Given the description of an element on the screen output the (x, y) to click on. 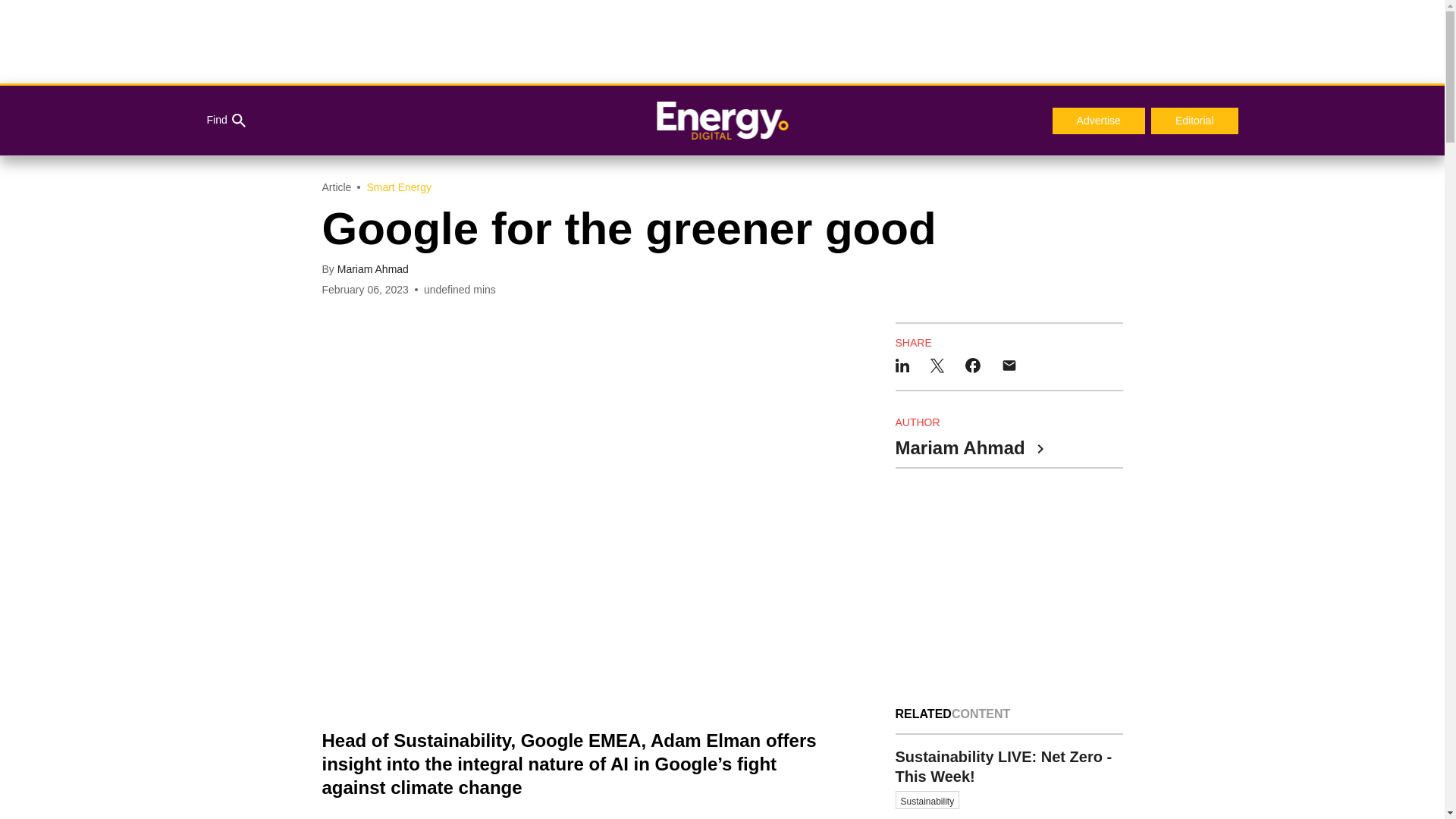
Mariam Ahmad (373, 268)
Mariam Ahmad (968, 448)
Editorial (1008, 776)
Find (1195, 121)
Advertise (225, 120)
